Given the description of an element on the screen output the (x, y) to click on. 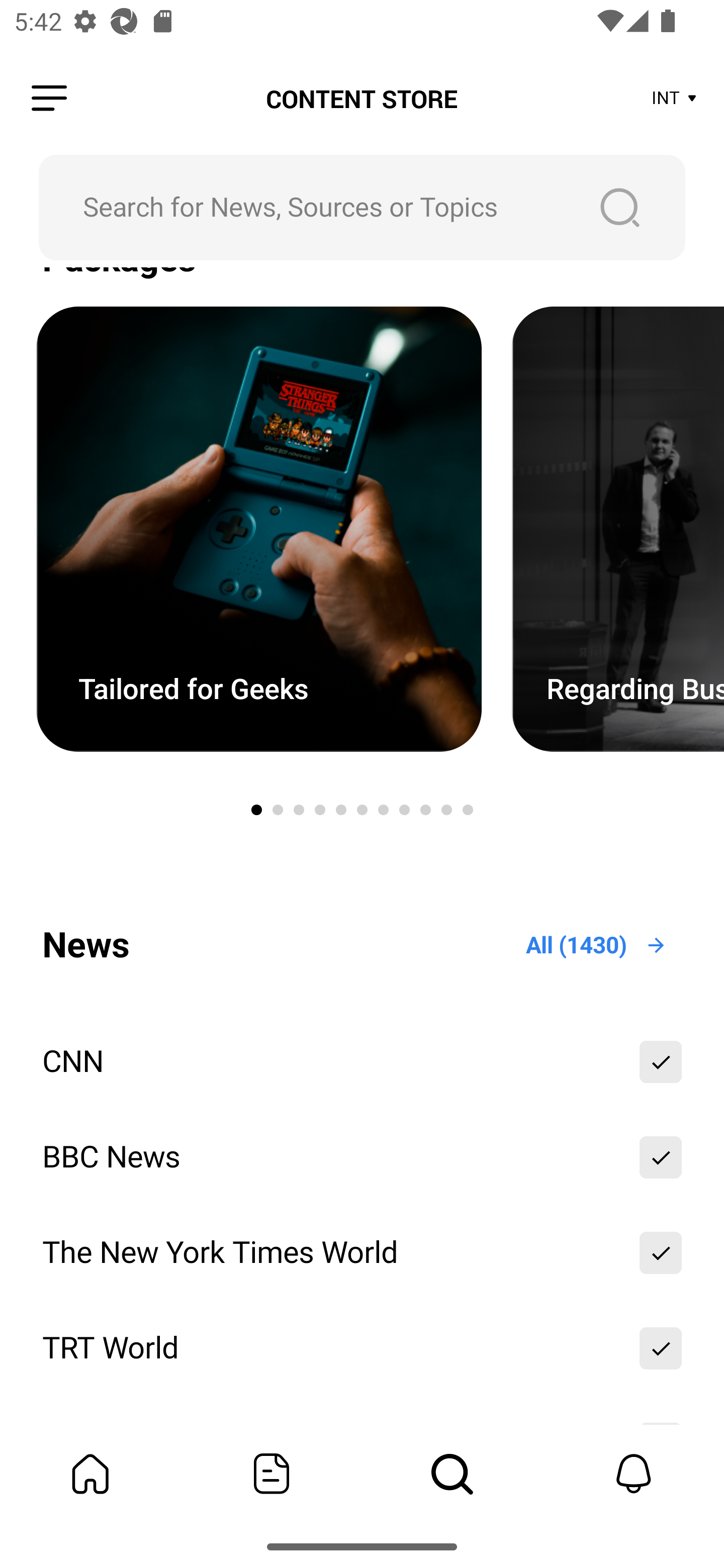
INT Store Area (674, 98)
Leading Icon (49, 98)
Search for News, Sources or Topics Search Button (361, 207)
All (1430) Open All Icon (596, 945)
CNN Add To My Bundle (361, 1061)
Add To My Bundle (660, 1061)
BBC News Add To My Bundle (361, 1156)
Add To My Bundle (660, 1156)
The New York Times World Add To My Bundle (361, 1252)
Add To My Bundle (660, 1252)
TRT World Add To My Bundle (361, 1348)
Add To My Bundle (660, 1348)
My Bundle (90, 1473)
Featured (271, 1473)
Notifications (633, 1473)
